Given the description of an element on the screen output the (x, y) to click on. 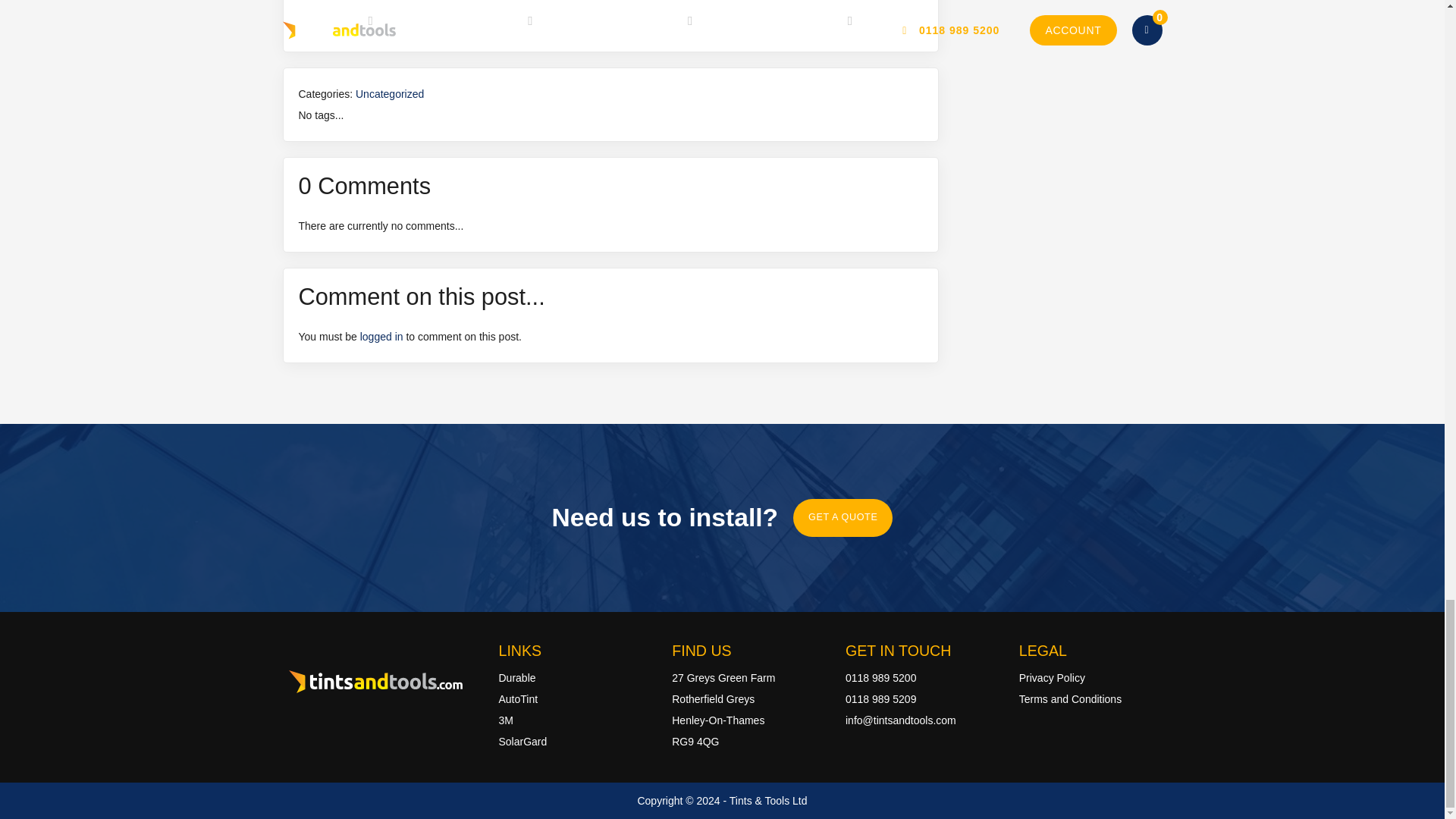
GET A QUOTE (842, 517)
logged in (381, 336)
Uncategorized (389, 93)
